Given the description of an element on the screen output the (x, y) to click on. 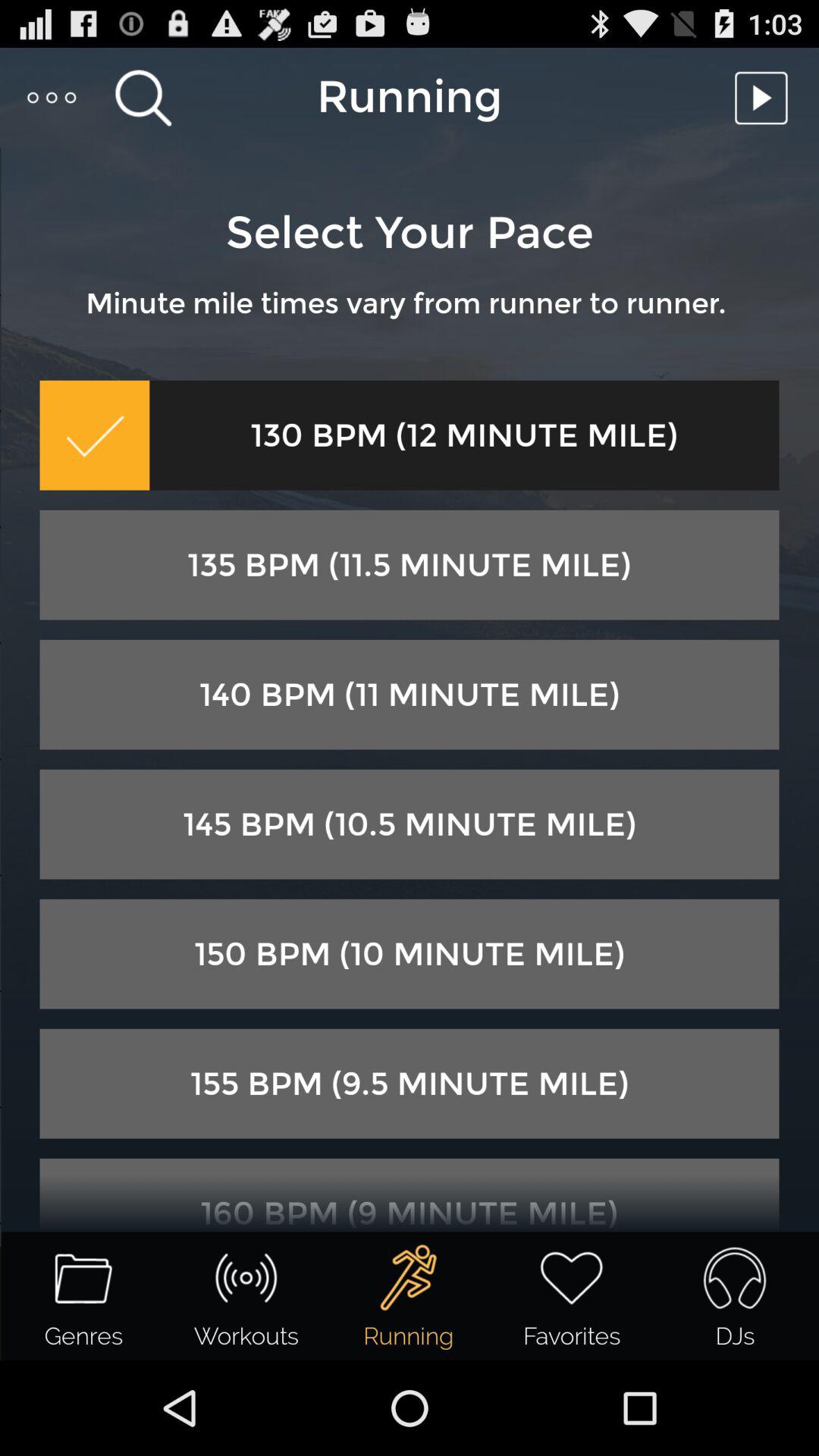
see menu (52, 97)
